Given the description of an element on the screen output the (x, y) to click on. 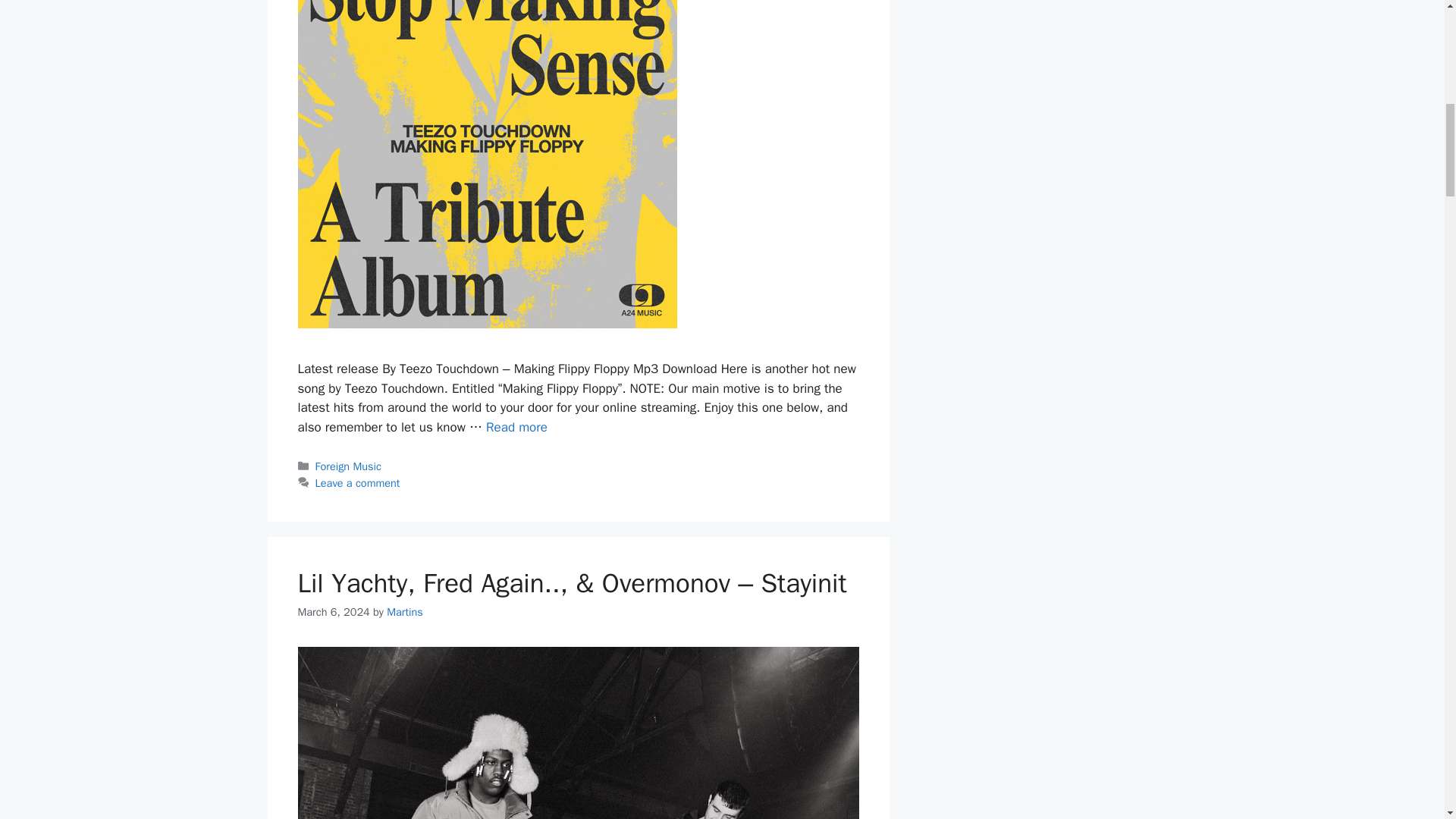
Foreign Music (348, 466)
Read more (516, 426)
View all posts by Martins (405, 612)
Martins (405, 612)
Leave a comment (357, 482)
